Given the description of an element on the screen output the (x, y) to click on. 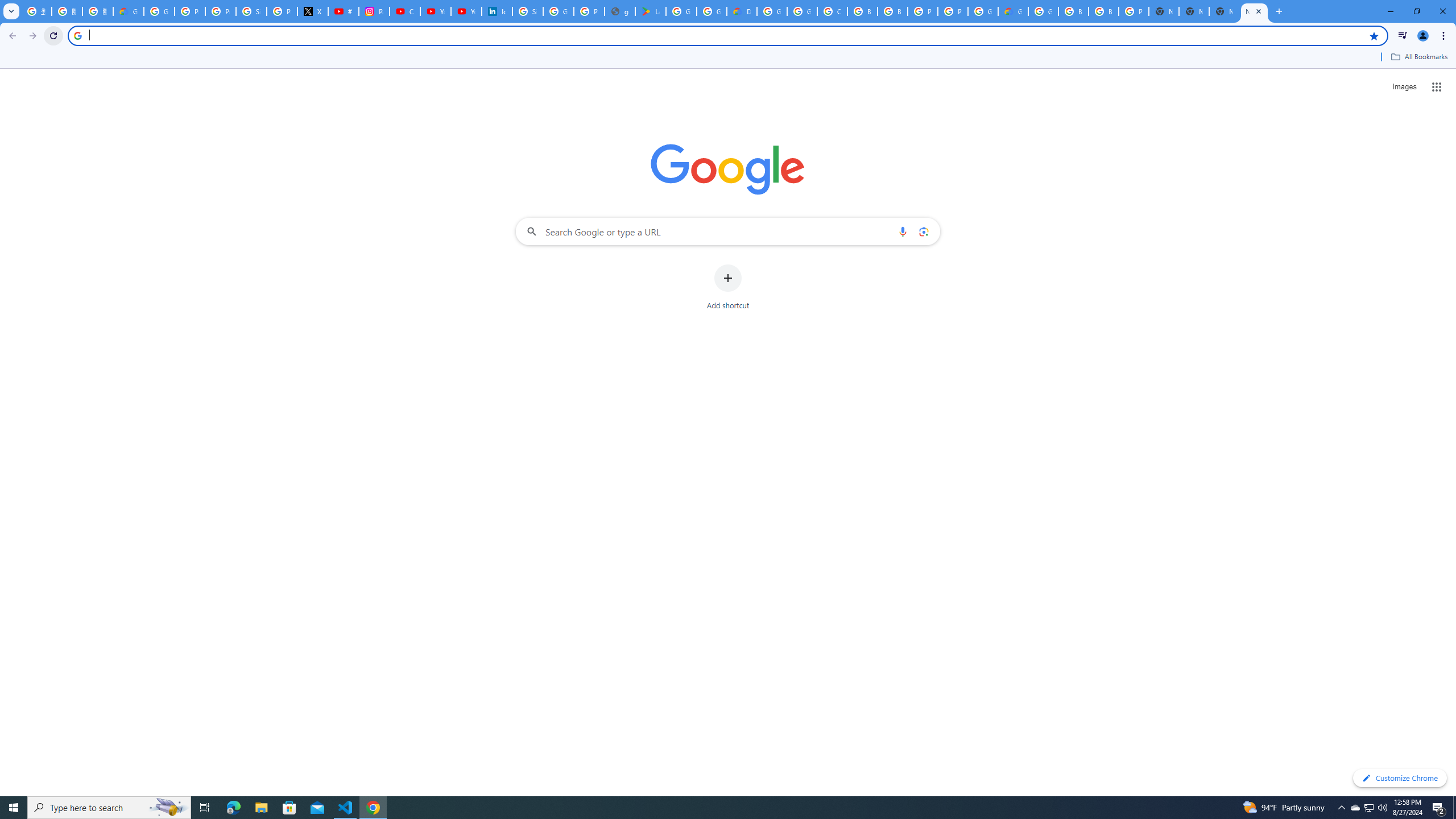
Google Cloud Platform (771, 11)
Google Workspace - Specific Terms (711, 11)
Google Cloud Platform (982, 11)
YouTube Culture & Trends - YouTube Top 10, 2021 (465, 11)
X (312, 11)
